Given the description of an element on the screen output the (x, y) to click on. 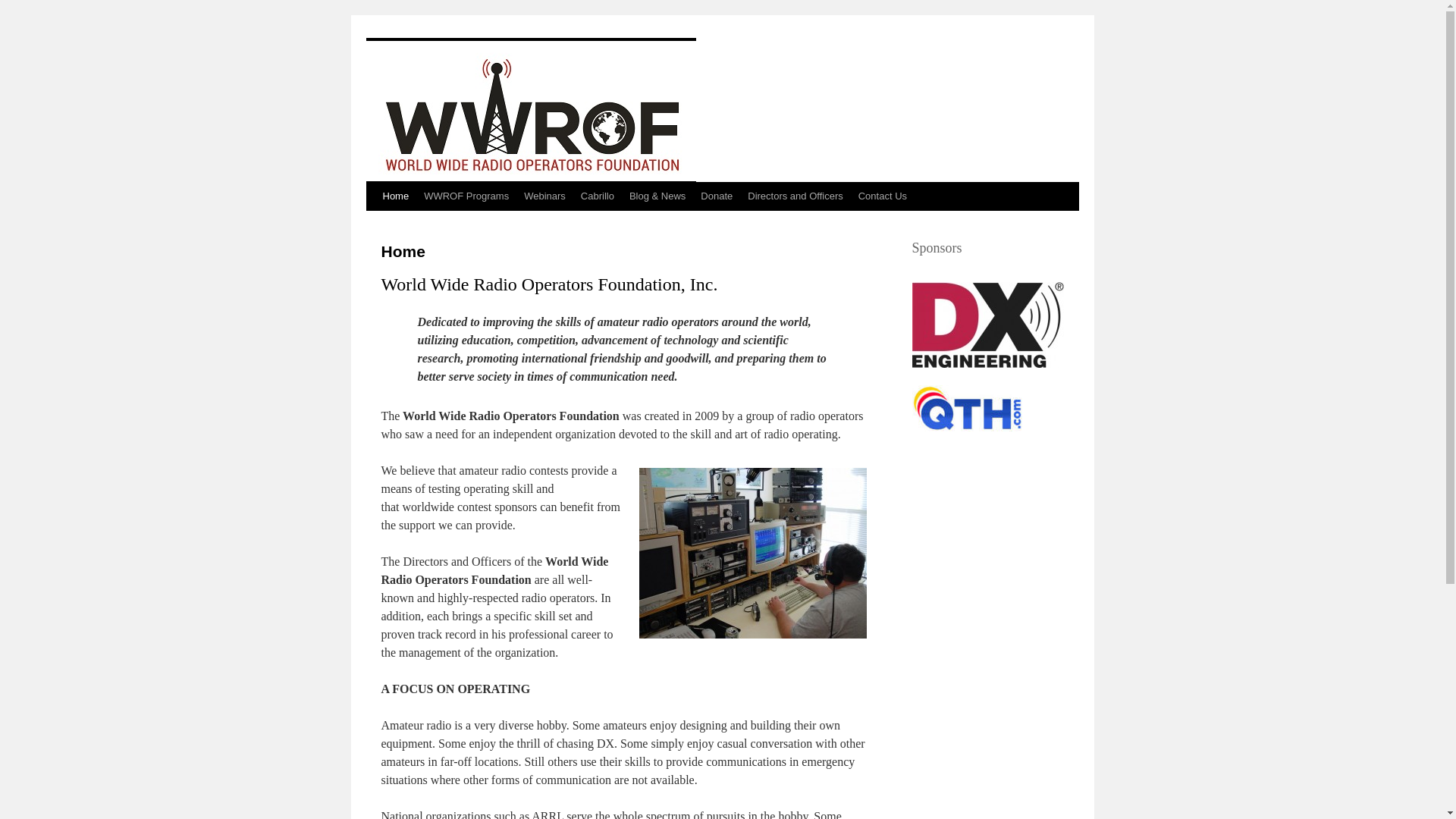
Home (395, 195)
Donate (716, 195)
Webinars (544, 195)
WWROF Programs (466, 195)
Directors and Officers (794, 195)
Contact Us (882, 195)
Cabrillo (597, 195)
